Given the description of an element on the screen output the (x, y) to click on. 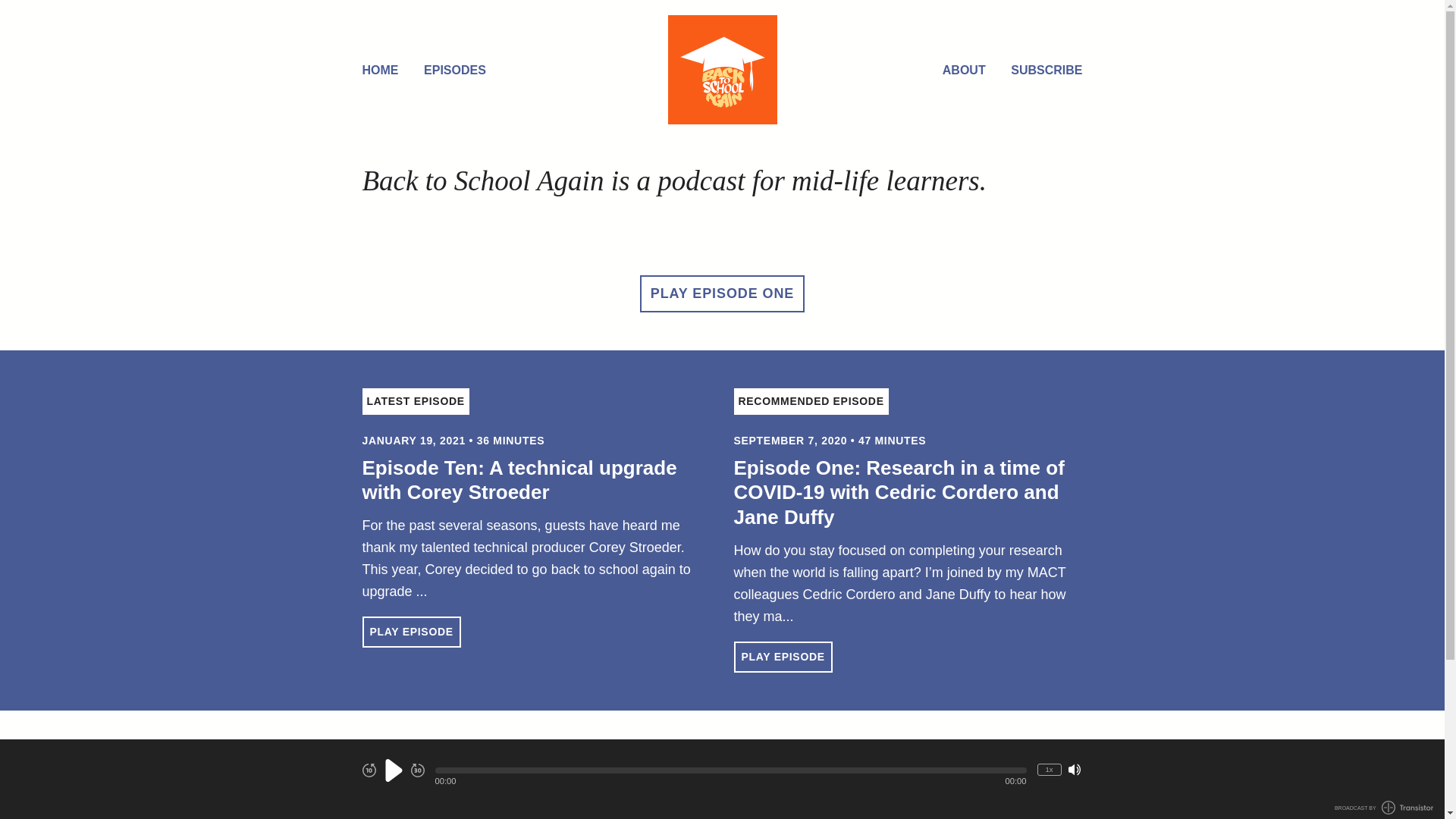
Mute/Unmute Element type: hover (1074, 769)
Twitter Element type: text (703, 778)
Home Element type: hover (722, 69)
Rewind 10 seconds Element type: hover (369, 769)
SUBSCRIBE Element type: text (1046, 70)
Episode Ten: A technical upgrade with Corey Stroeder Element type: text (519, 480)
ABOUT Element type: text (963, 70)
Facebook Element type: text (740, 778)
LinkedIn Element type: text (778, 778)
Email Element type: text (665, 776)
HOME Element type: text (380, 70)
Play Element type: hover (392, 770)
PLAY EPISODE ONE Element type: text (722, 293)
Seek within Episode Element type: hover (730, 770)
EPISODES Element type: text (454, 70)
BROADCAST BY TRANSISTOR LOGO Element type: text (1383, 807)
PLAY EPISODE Element type: text (411, 631)
PLAY EPISODE Element type: text (783, 656)
Fast Forward 30 seconds Element type: hover (417, 769)
1x Element type: text (1049, 769)
